Given the description of an element on the screen output the (x, y) to click on. 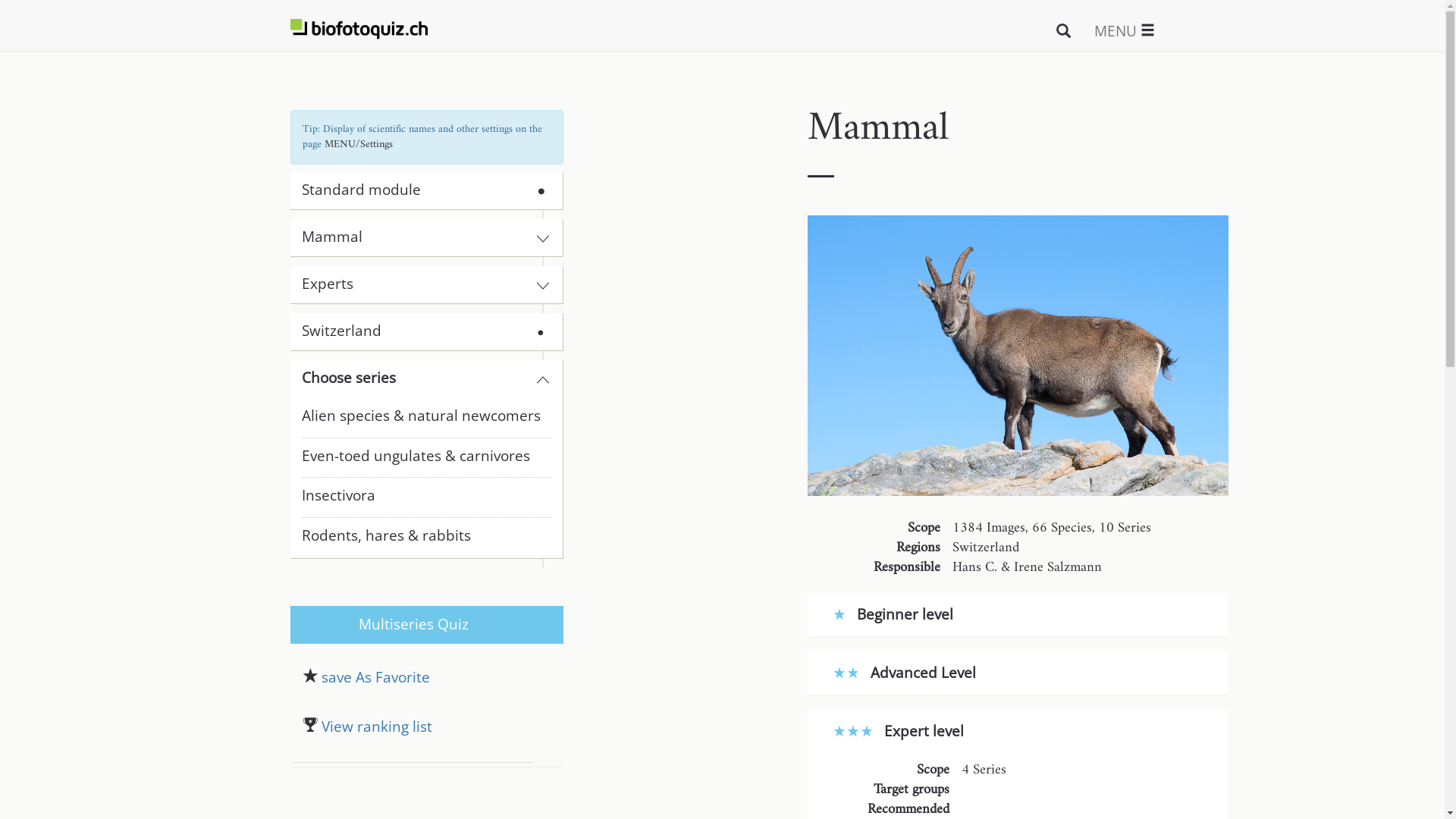
Alien species & natural newcomers Element type: text (426, 421)
MENU/Settings Element type: text (358, 143)
Choose series Element type: text (413, 376)
View ranking list Element type: text (413, 739)
Experts Element type: text (413, 282)
Expert level Element type: text (898, 733)
Advanced Level Element type: text (904, 674)
save As Favorite Element type: text (413, 678)
Beginner level Element type: text (893, 616)
Insectivora Element type: text (426, 501)
Mammal Element type: text (413, 235)
Rodents, hares & rabbits Element type: text (426, 541)
MENU Element type: text (1124, 30)
Standard module Element type: text (360, 188)
Even-toed ungulates & carnivores Element type: text (426, 461)
Multiseries Quiz Element type: text (413, 624)
